Given the description of an element on the screen output the (x, y) to click on. 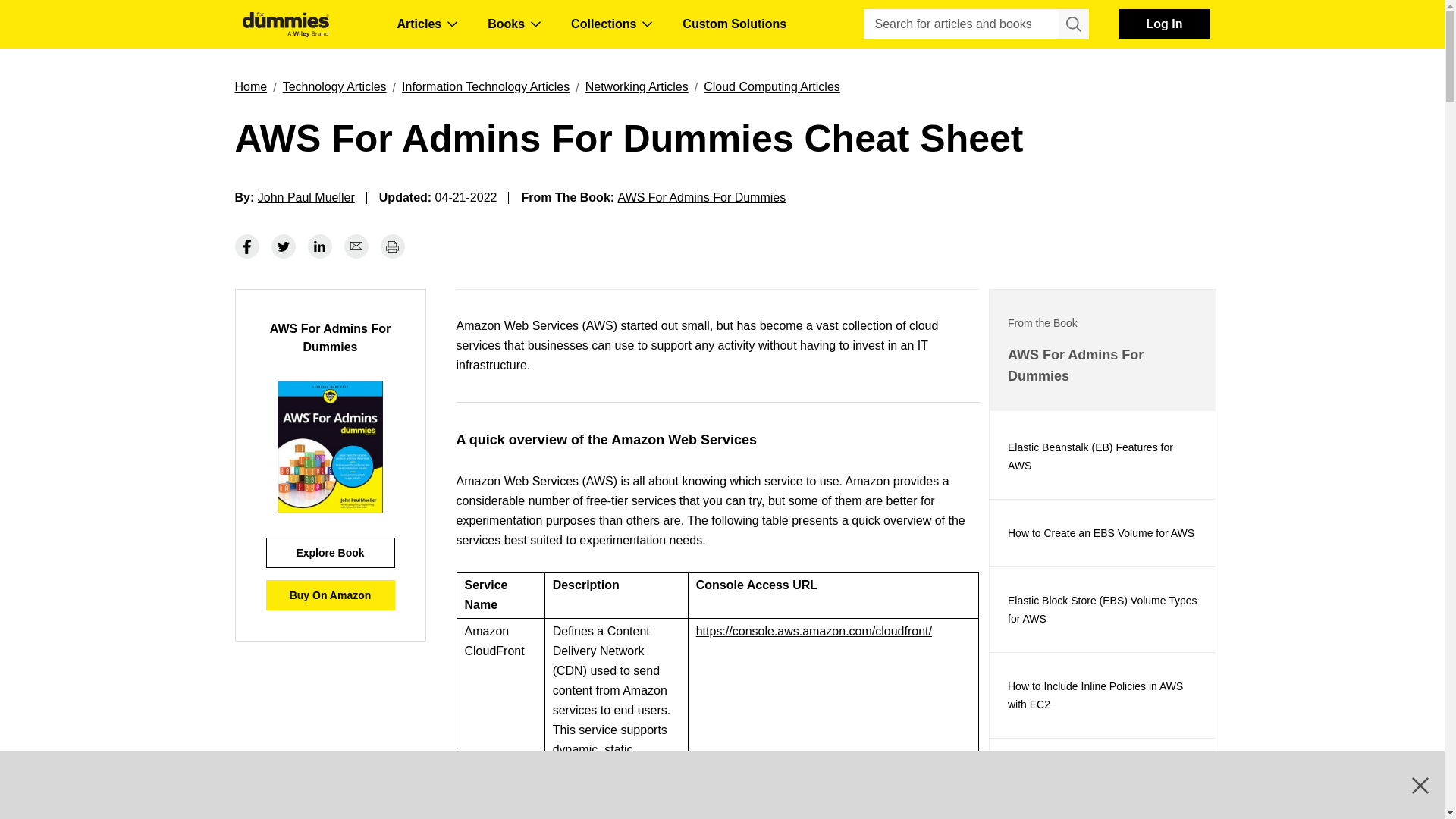
Custom Solutions (734, 24)
